Given the description of an element on the screen output the (x, y) to click on. 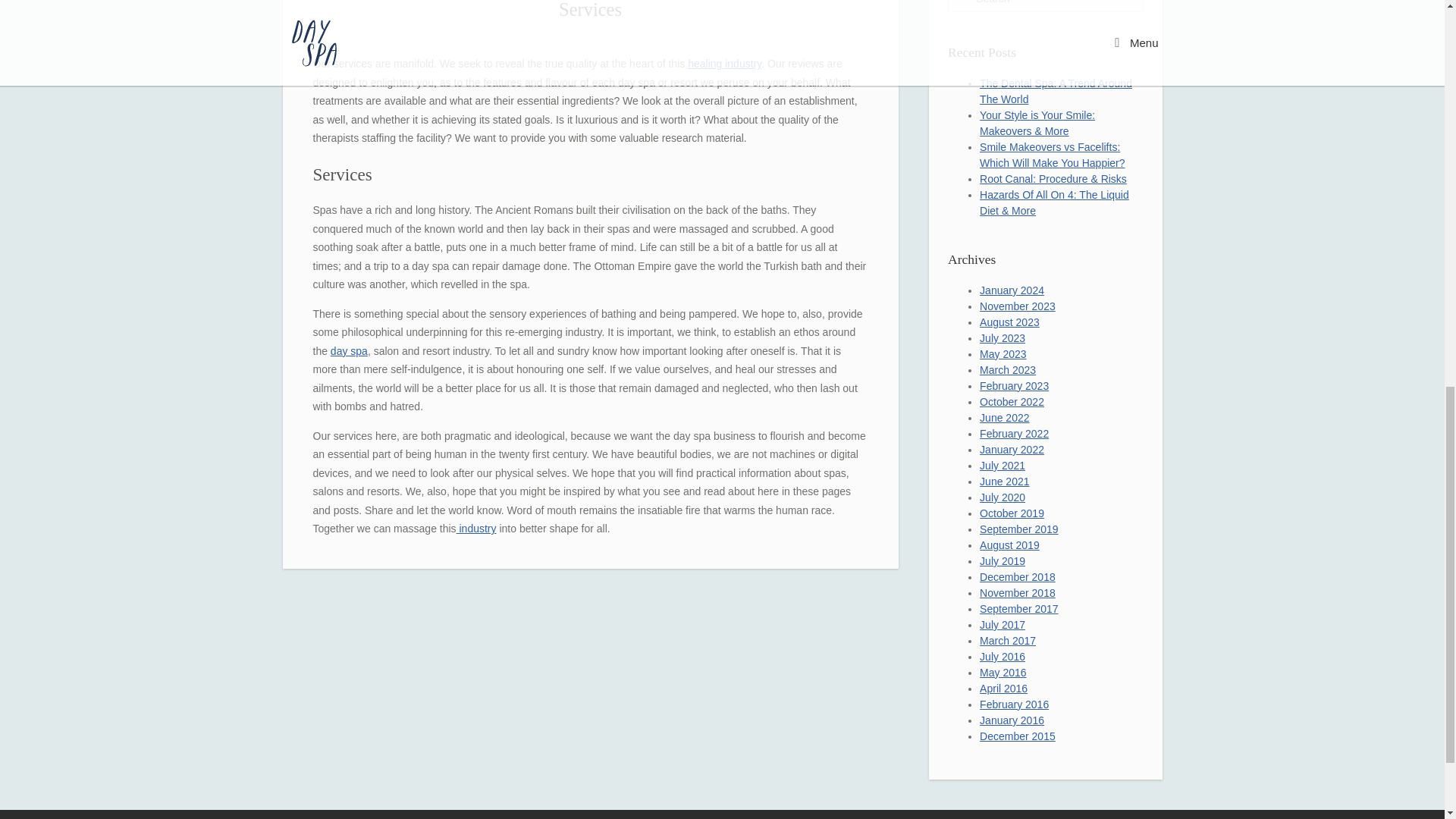
April 2016 (1003, 688)
July 2023 (1002, 337)
July 2019 (1002, 561)
January 2024 (1011, 290)
Smile Makeovers vs Facelifts: Which Will Make You Happier? (1051, 154)
healing industry (724, 63)
day spa (349, 350)
September 2019 (1018, 529)
February 2016 (1013, 704)
industry (476, 528)
